Given the description of an element on the screen output the (x, y) to click on. 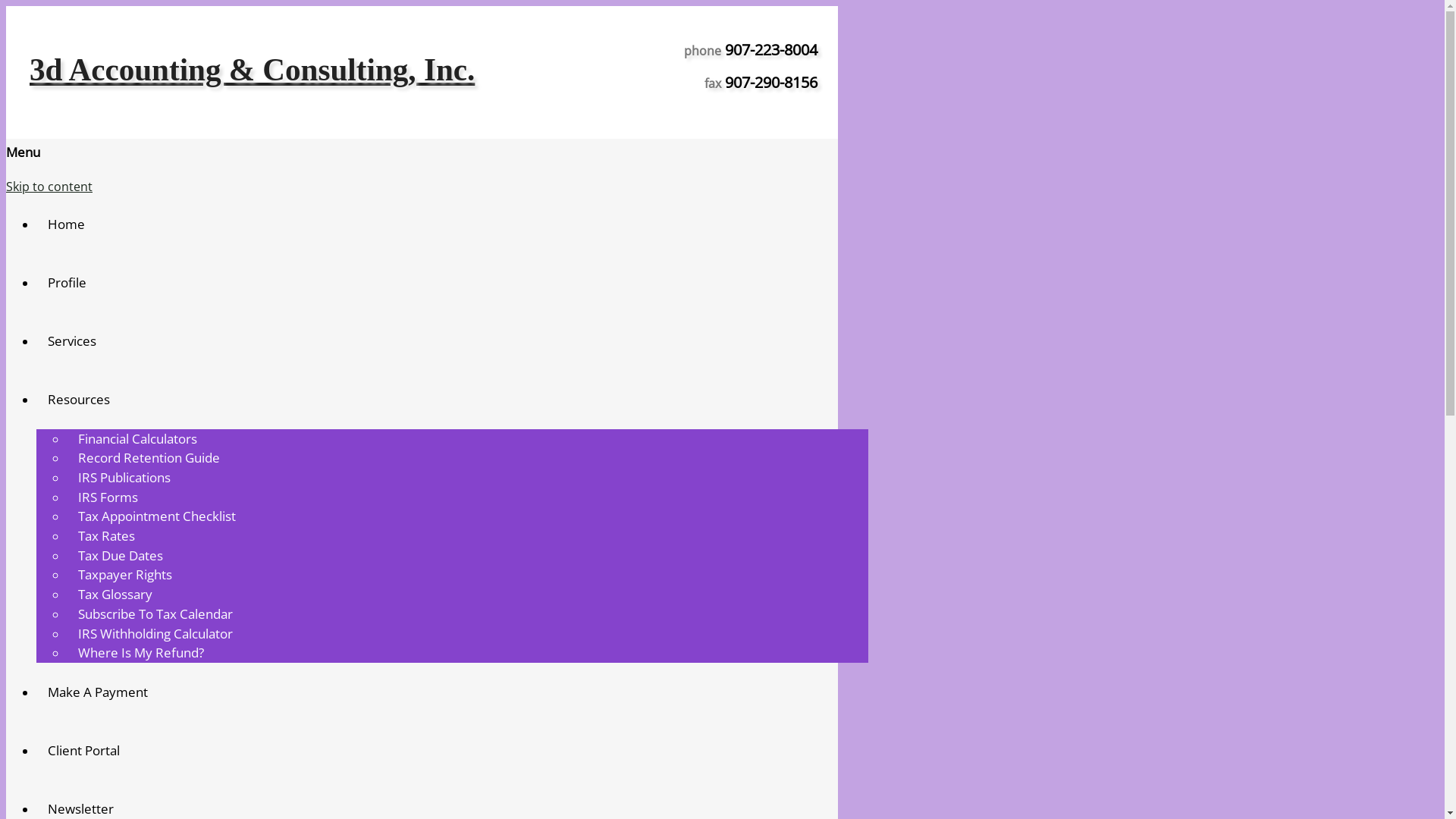
Tax Glossary Element type: text (114, 593)
Taxpayer Rights Element type: text (124, 574)
Financial Calculators Element type: text (137, 438)
Home Element type: text (66, 223)
Record Retention Guide Element type: text (148, 457)
Client Portal Element type: text (83, 750)
Tax Due Dates Element type: text (120, 555)
IRS Forms Element type: text (107, 496)
IRS Withholding Calculator Element type: text (155, 633)
Resources Element type: text (78, 398)
Subscribe To Tax Calendar Element type: text (155, 613)
IRS Publications Element type: text (124, 477)
Services Element type: text (71, 340)
Newsletter Element type: text (80, 808)
Tax Rates Element type: text (106, 535)
3d Accounting & Consulting, Inc. Element type: text (251, 69)
Profile Element type: text (66, 282)
Skip to content Element type: text (49, 186)
Where Is My Refund? Element type: text (140, 652)
Make A Payment Element type: text (97, 691)
Tax Appointment Checklist Element type: text (156, 515)
